Given the description of an element on the screen output the (x, y) to click on. 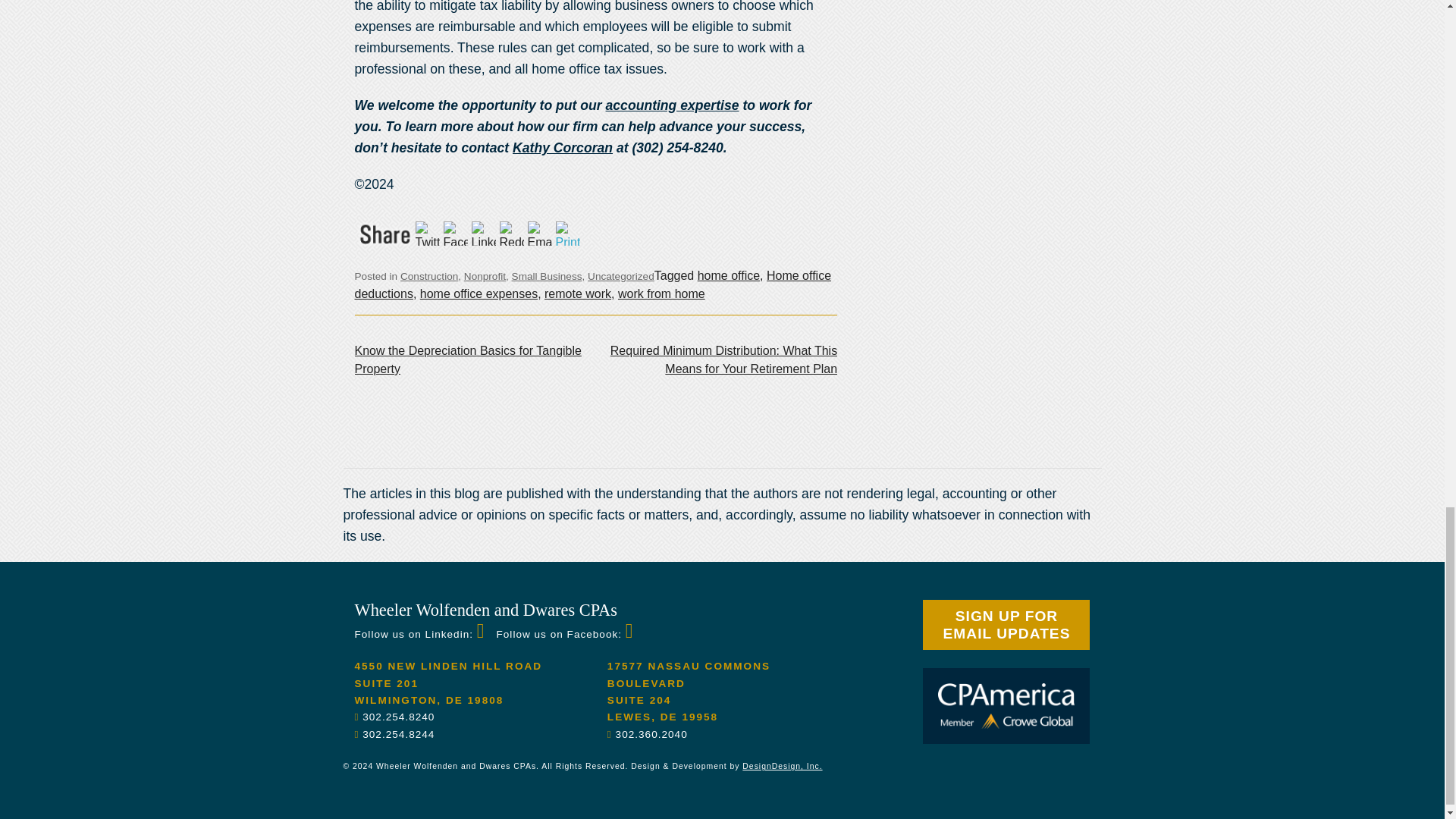
Nonprofit (484, 276)
Linkedin (485, 231)
Reddit (513, 231)
Home office deductions (593, 284)
accounting expertise (672, 105)
Facebook (456, 231)
home office (728, 275)
Kathy Corcoran (562, 147)
Construction (429, 276)
